Given the description of an element on the screen output the (x, y) to click on. 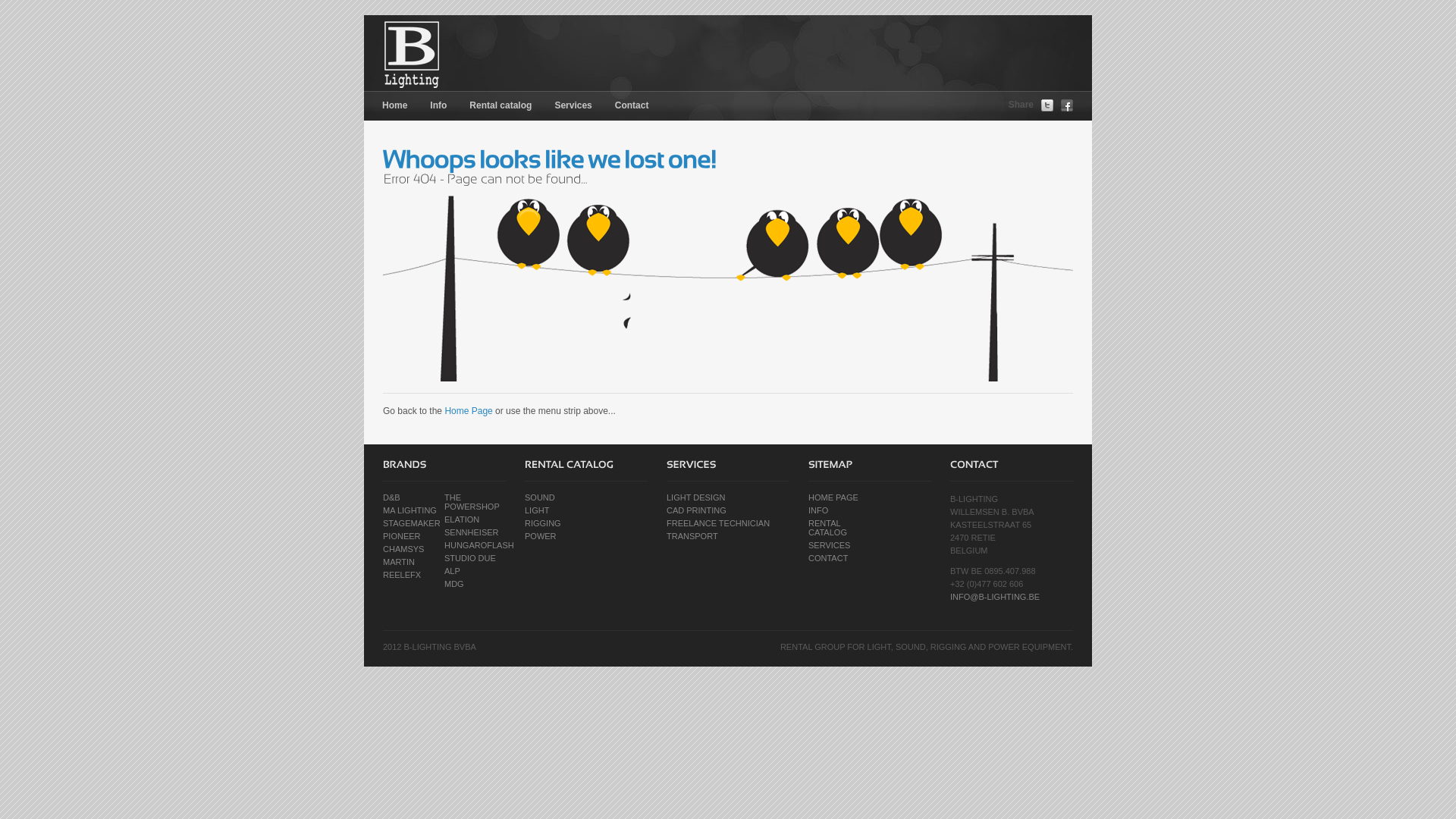
STUDIO DUE Element type: text (469, 557)
B-Lighting - Homepage Element type: hover (468, 53)
Home Element type: text (394, 105)
LIGHT Element type: text (536, 509)
Facebook Element type: hover (1066, 105)
SENNHEISER Element type: text (471, 531)
D&B Element type: text (391, 497)
STAGEMAKER Element type: text (411, 522)
LIGHT DESIGN Element type: text (695, 497)
Rental catalog Element type: text (500, 105)
Home Page Element type: text (468, 410)
HUNGAROFLASH Element type: text (479, 544)
SOUND Element type: text (539, 497)
Services Element type: text (572, 105)
REELEFX Element type: text (401, 574)
TRANSPORT Element type: text (692, 535)
SERVICES Element type: text (829, 544)
THE POWERSHOP Element type: text (471, 501)
INFO@B-LIGHTING.BE Element type: text (994, 596)
MARTIN Element type: text (398, 561)
INFO Element type: text (818, 509)
RENTAL CATALOG Element type: text (827, 527)
Contact Element type: text (631, 105)
Info Element type: text (438, 105)
CHAMSYS Element type: text (402, 548)
RIGGING Element type: text (542, 522)
PIONEER Element type: text (401, 535)
Twitter Element type: hover (1047, 105)
MDG Element type: text (454, 583)
POWER Element type: text (540, 535)
MA LIGHTING Element type: text (409, 509)
FREELANCE TECHNICIAN Element type: text (717, 522)
ALP Element type: text (452, 570)
CONTACT Element type: text (827, 557)
ELATION Element type: text (461, 519)
CAD PRINTING Element type: text (696, 509)
HOME PAGE Element type: text (833, 497)
